Given the description of an element on the screen output the (x, y) to click on. 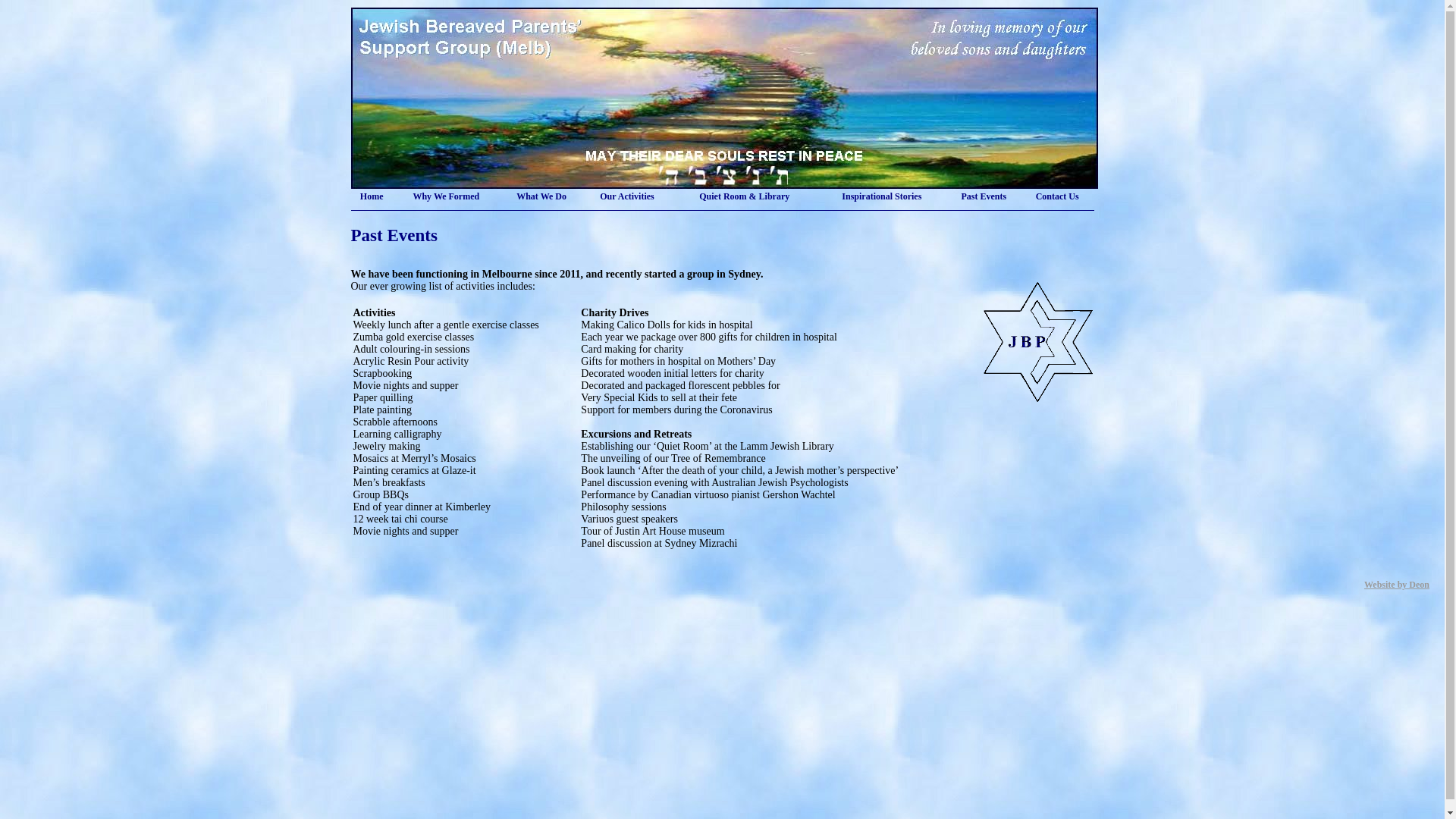
Inspirational Stories Element type: text (881, 196)
What We Do Element type: text (541, 196)
Contact Us Element type: text (1057, 196)
Why We Formed Element type: text (445, 196)
Past Events Element type: text (983, 196)
Home Element type: text (371, 196)
Website by Deon Element type: text (1396, 584)
Quiet Room & Library Element type: text (744, 196)
Our Activities Element type: text (626, 196)
